Given the description of an element on the screen output the (x, y) to click on. 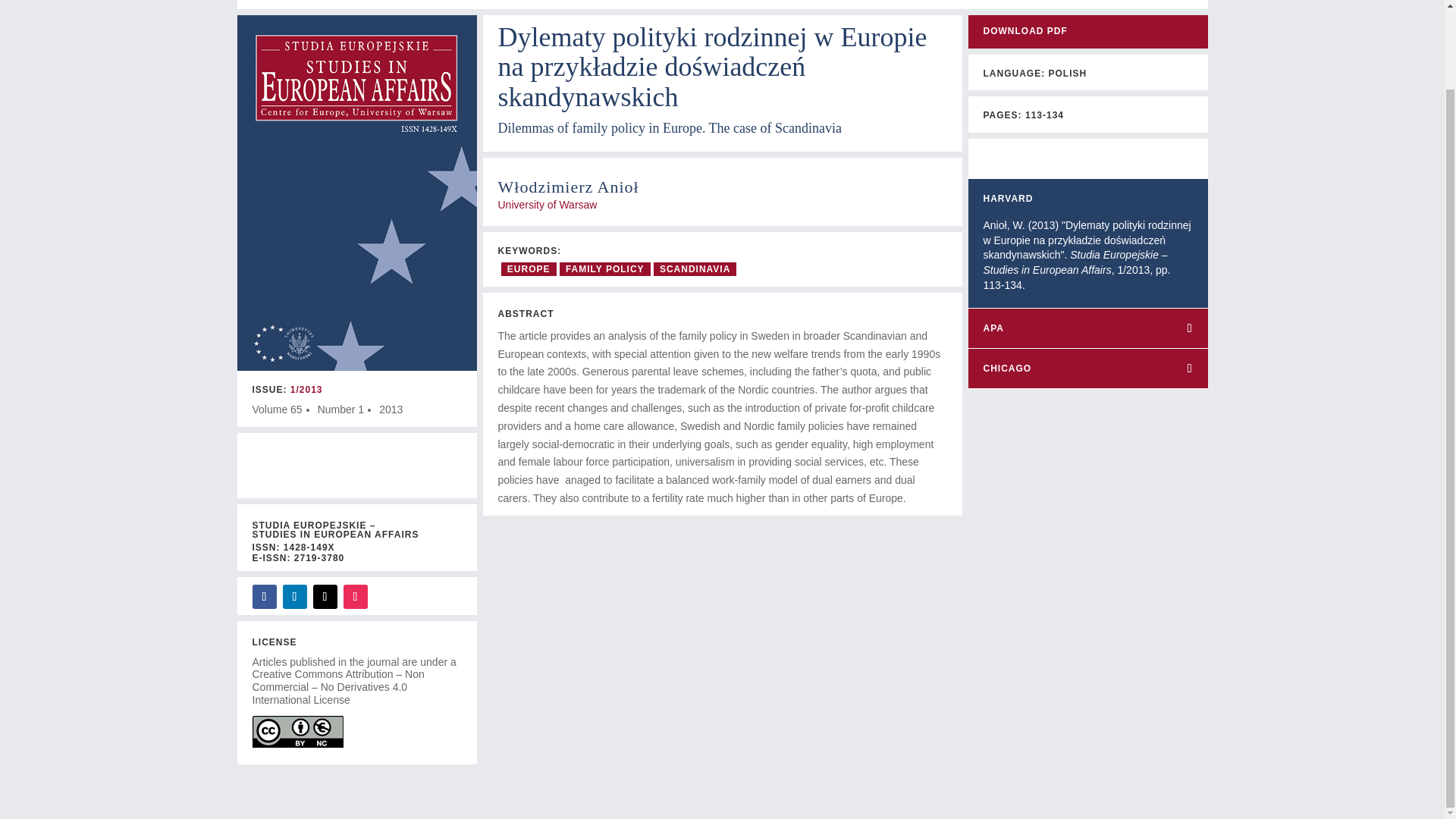
Follow on Instagram (354, 596)
Follow on LinkedIn (293, 596)
Follow on Facebook (263, 596)
Follow on X (324, 596)
